Given the description of an element on the screen output the (x, y) to click on. 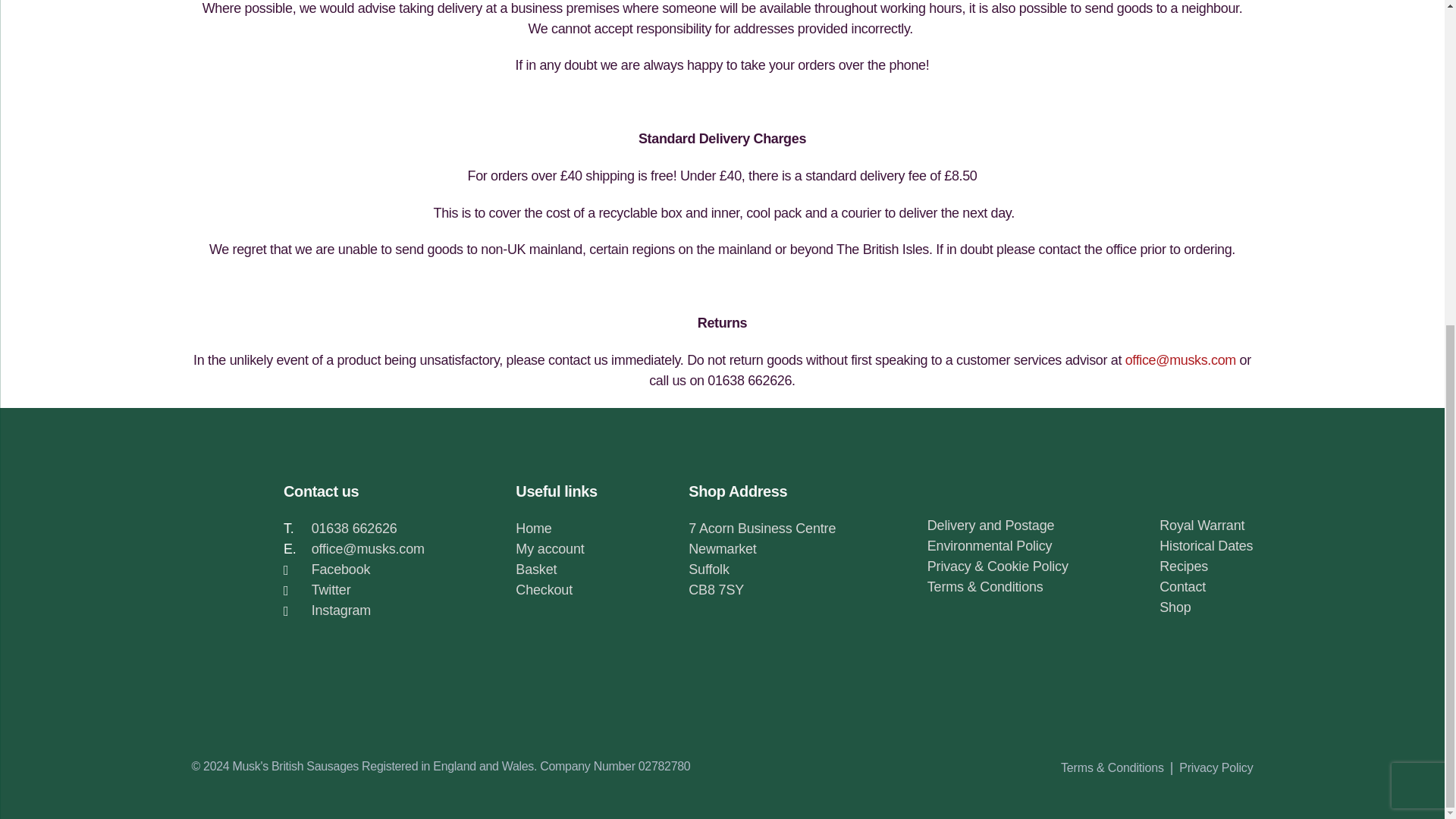
My account (549, 548)
Instagram (341, 610)
01638 662626 (354, 528)
Checkout (543, 589)
Twitter (330, 589)
Facebook (341, 569)
Home (533, 528)
Basket (535, 569)
